Given the description of an element on the screen output the (x, y) to click on. 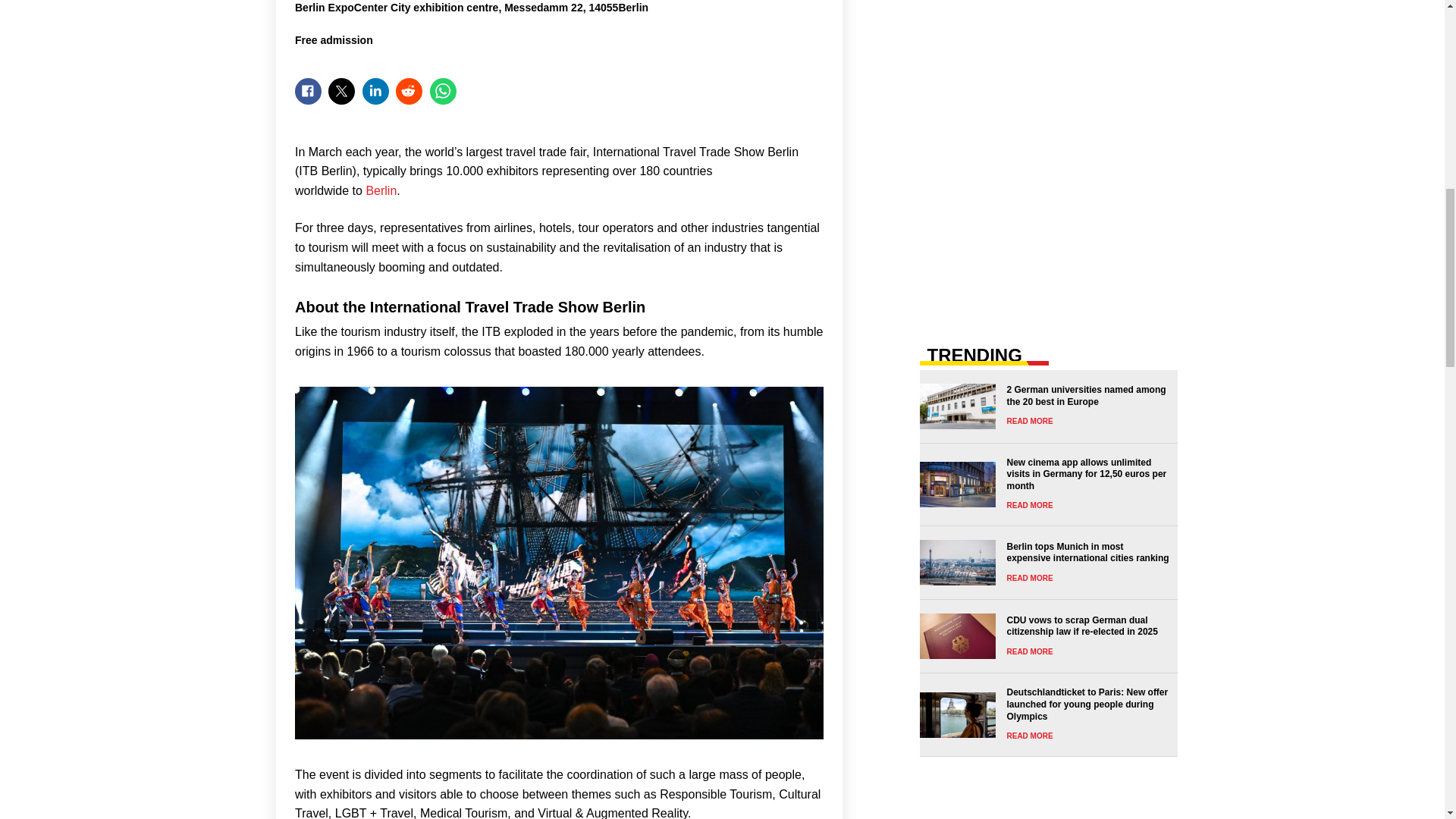
2 German universities named among the 20 best in Europe (1043, 406)
